Given the description of an element on the screen output the (x, y) to click on. 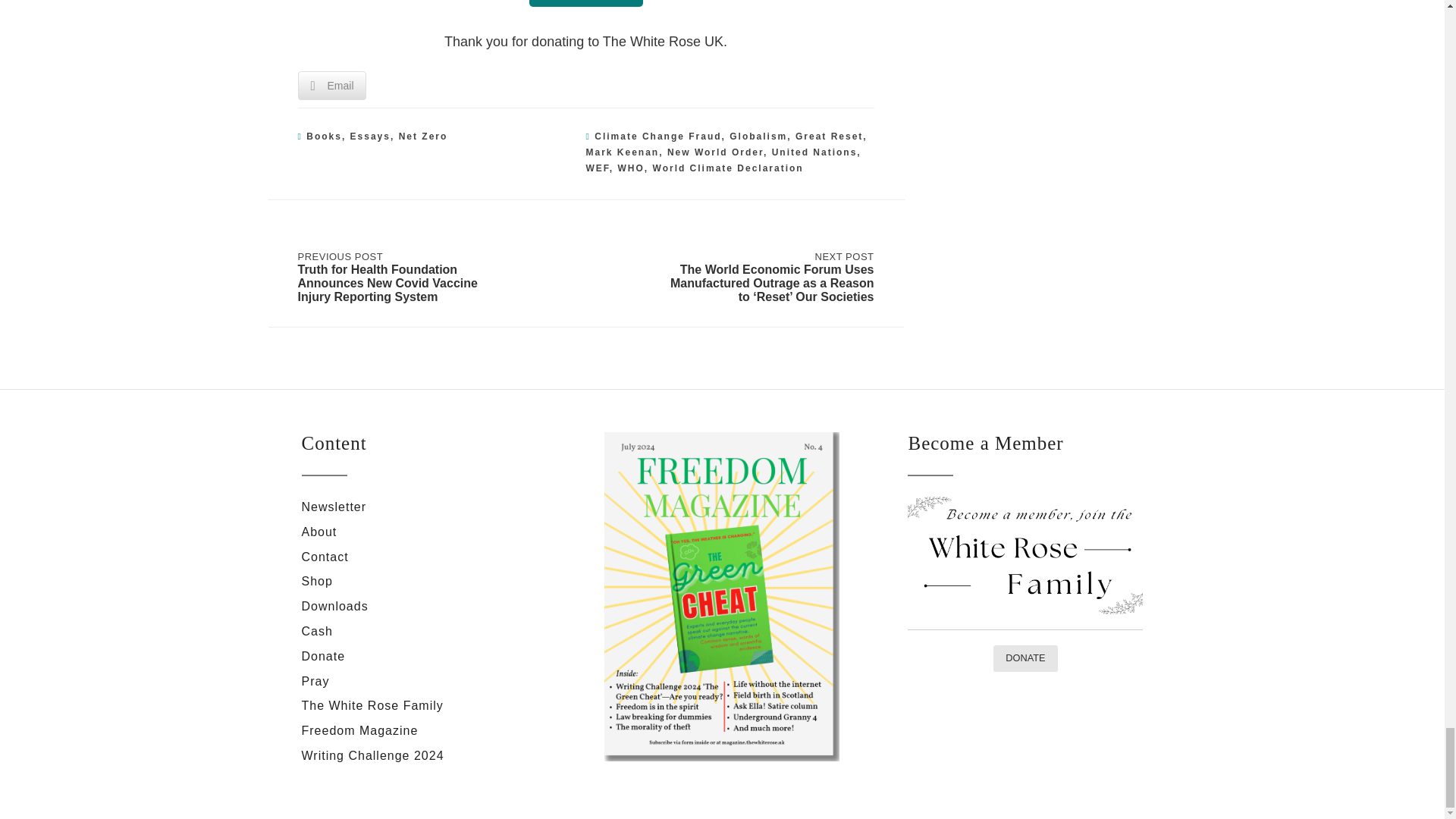
Essays (370, 136)
Great Reset (828, 136)
World Climate Declaration (727, 167)
New World Order (714, 152)
WHO (631, 167)
Climate Change Fraud (657, 136)
Books (323, 136)
Email (331, 85)
Mark Keenan (622, 152)
United Nations (814, 152)
WEF (596, 167)
Globalism (758, 136)
Net Zero (423, 136)
